Given the description of an element on the screen output the (x, y) to click on. 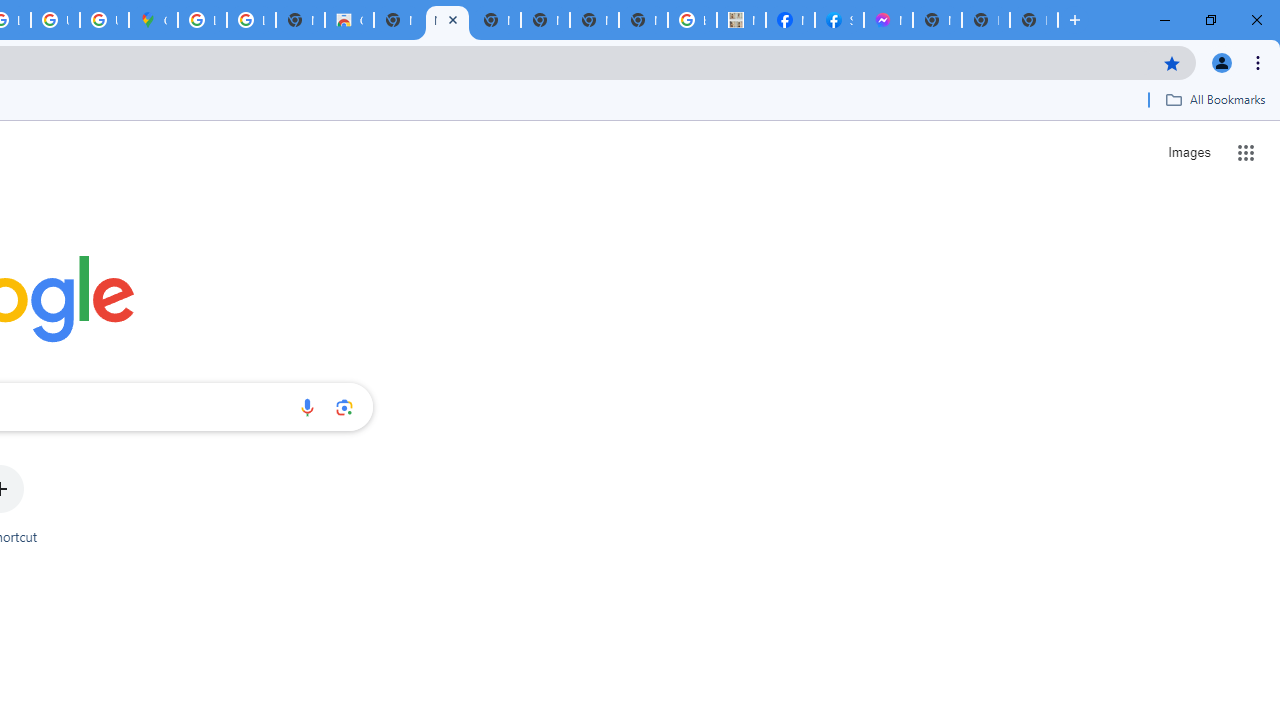
Chrome Web Store (349, 20)
Search by voice (307, 407)
Google Maps (153, 20)
Miley Cyrus | Facebook (790, 20)
Search for Images  (1188, 152)
Sign Up for Facebook (839, 20)
